Given the description of an element on the screen output the (x, y) to click on. 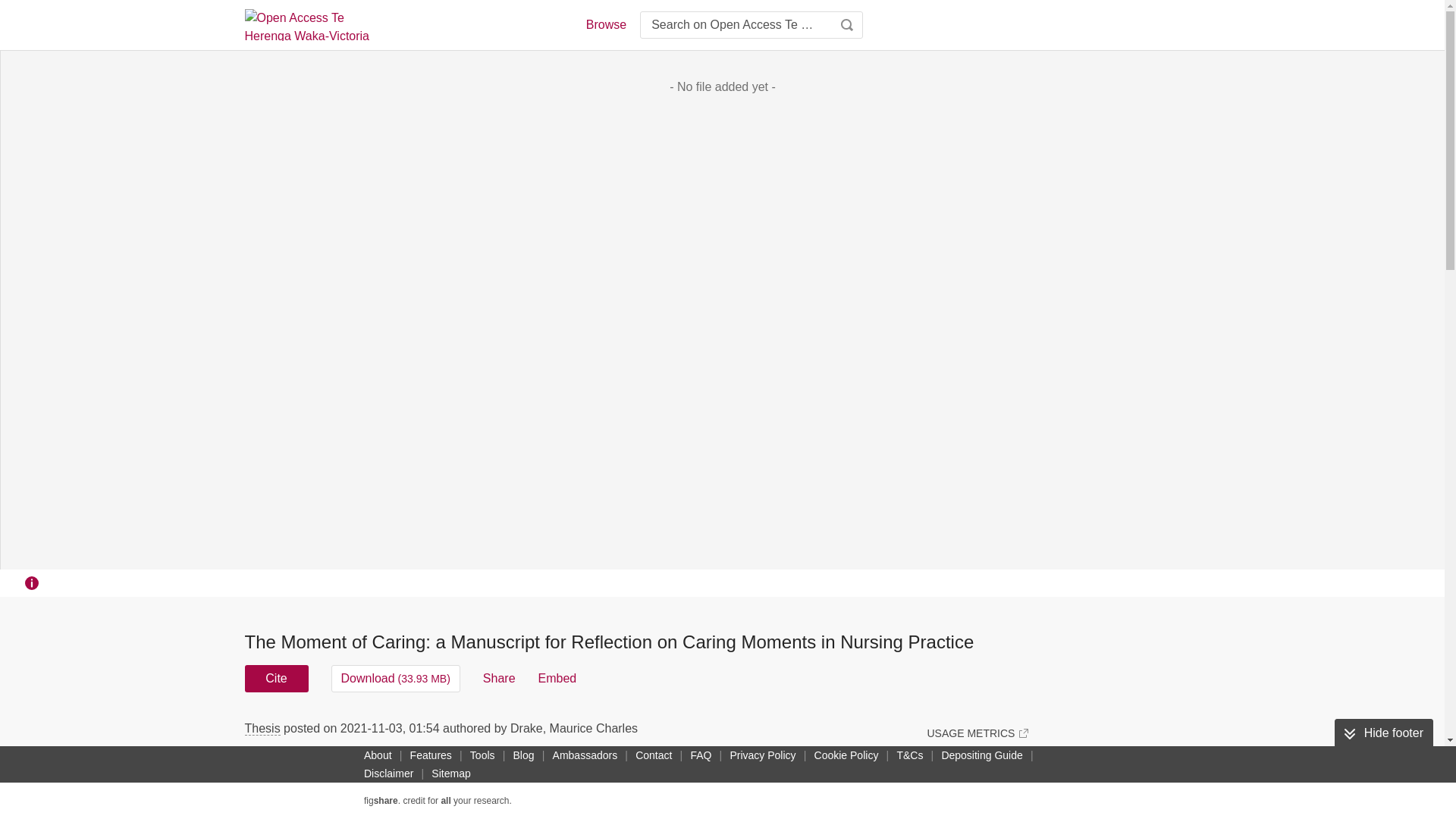
Share (499, 678)
USAGE METRICS (976, 732)
Features (431, 755)
Hide footer (1383, 733)
About (377, 755)
Embed (557, 678)
Browse (605, 24)
Cite (275, 678)
